Given the description of an element on the screen output the (x, y) to click on. 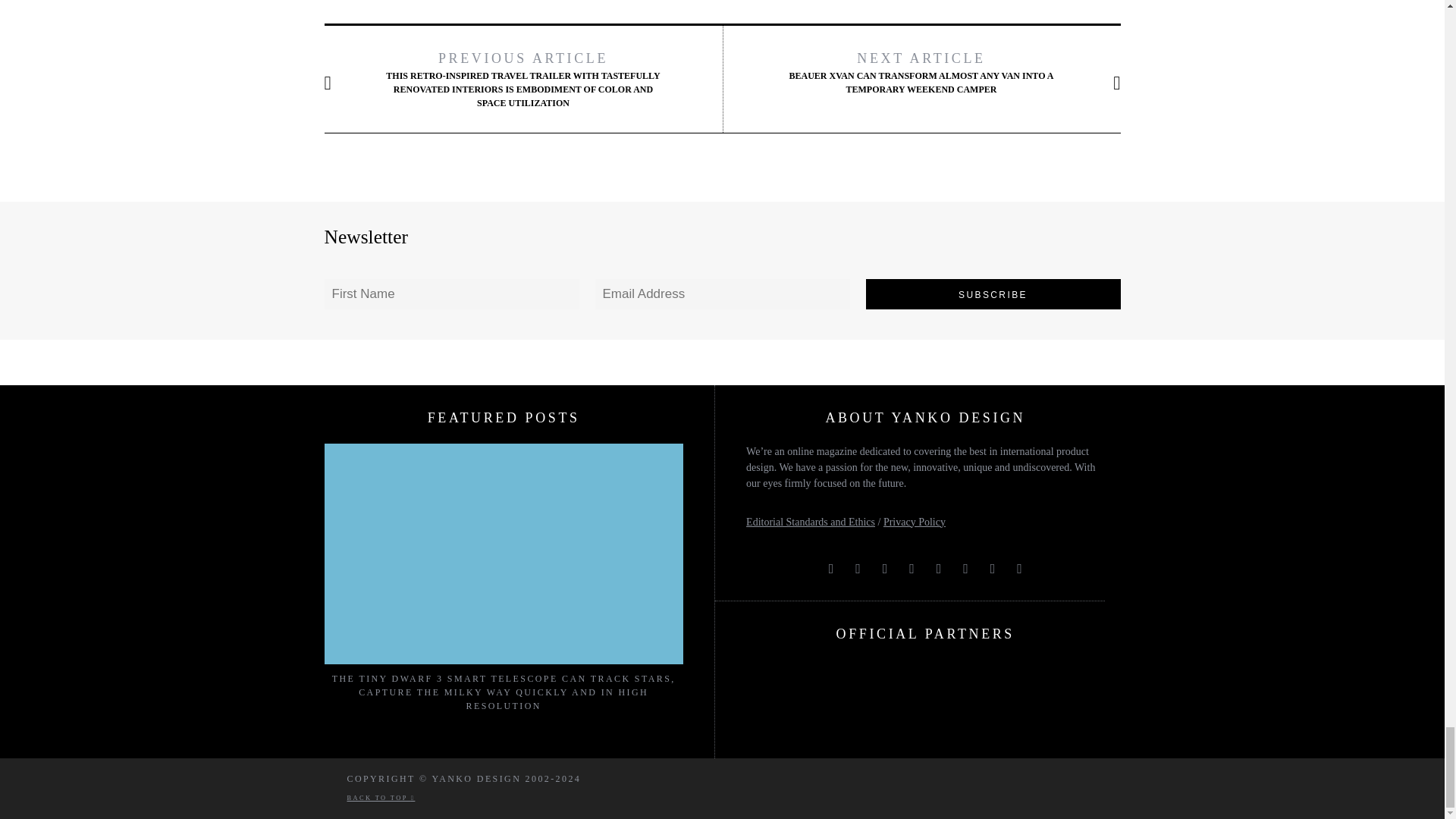
Subscribe (993, 294)
